Given the description of an element on the screen output the (x, y) to click on. 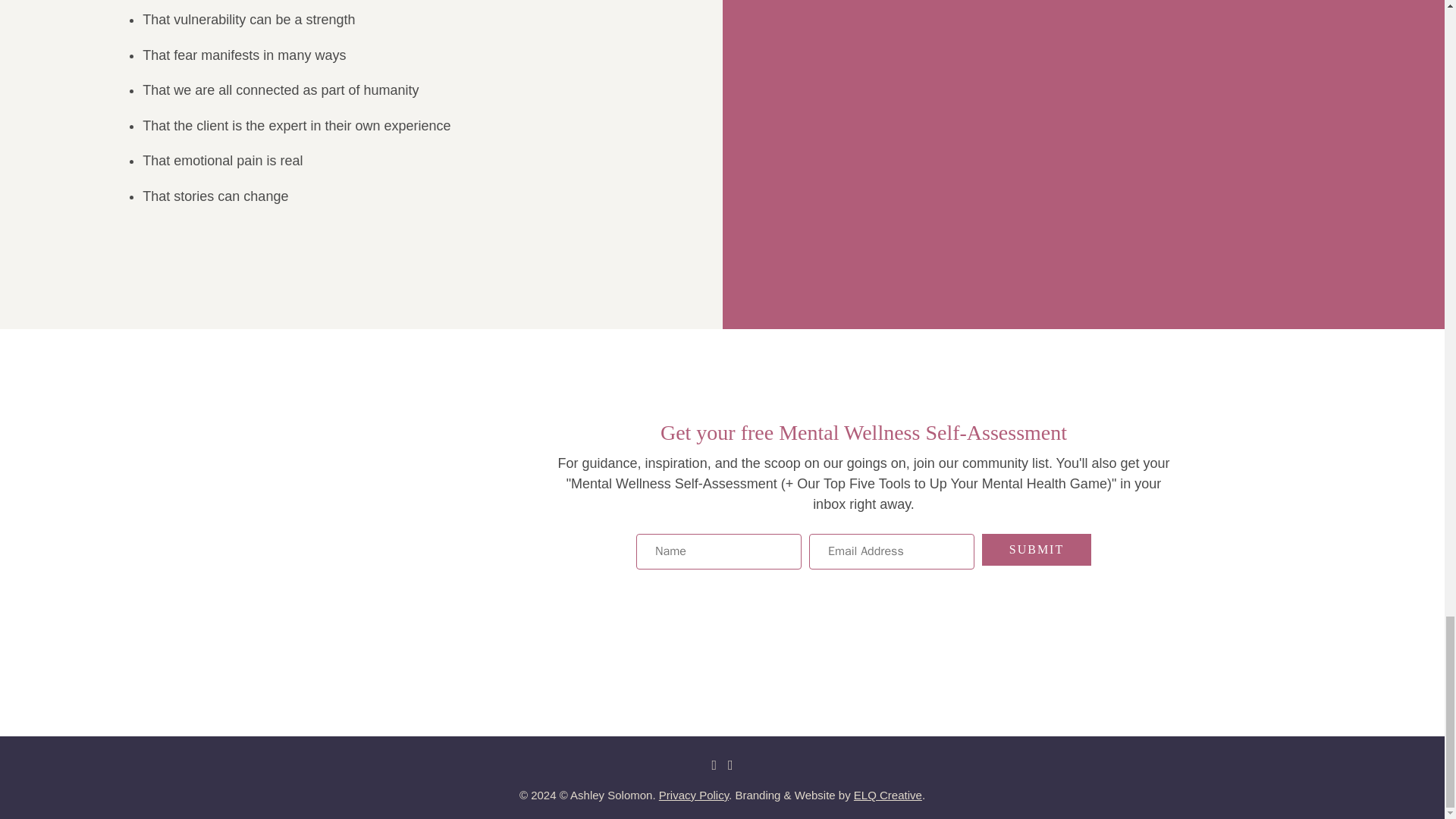
ELQ Creative (887, 794)
SUBMIT (1035, 549)
Privacy Policy (694, 794)
